Given the description of an element on the screen output the (x, y) to click on. 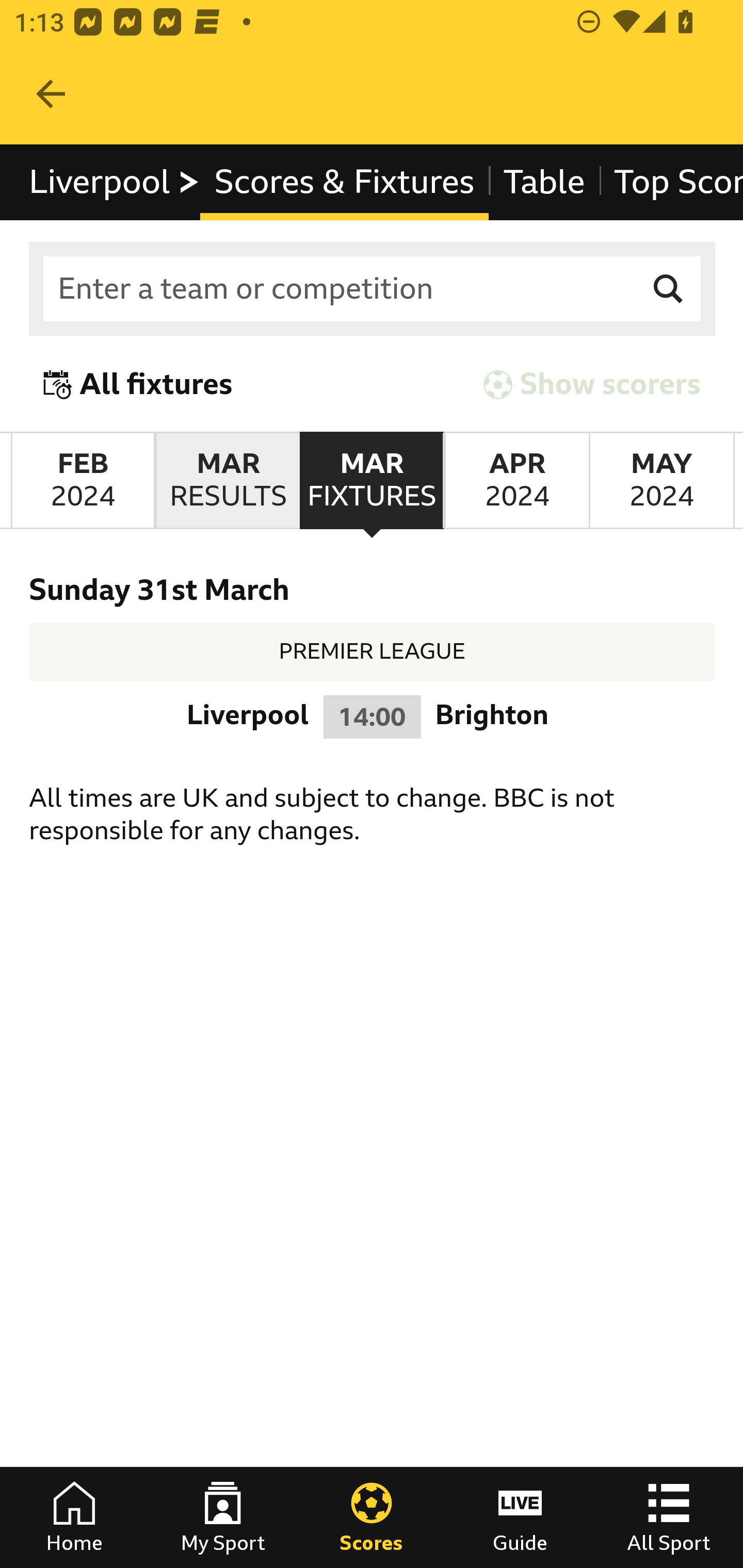
Navigate up (50, 93)
Liverpool  (113, 181)
Scores & Fixtures (343, 181)
Table (543, 181)
Top Scorers (670, 181)
Search (669, 289)
All fixtures (137, 383)
Show scorers (591, 383)
February2024 February 2024 (83, 480)
MarchRESULTS March RESULTS (227, 480)
MarchFIXTURES, Selected March FIXTURES , Selected (371, 480)
April2024 April 2024 (516, 480)
May2024 May 2024 (661, 480)
Home (74, 1517)
My Sport (222, 1517)
Guide (519, 1517)
All Sport (668, 1517)
